Given the description of an element on the screen output the (x, y) to click on. 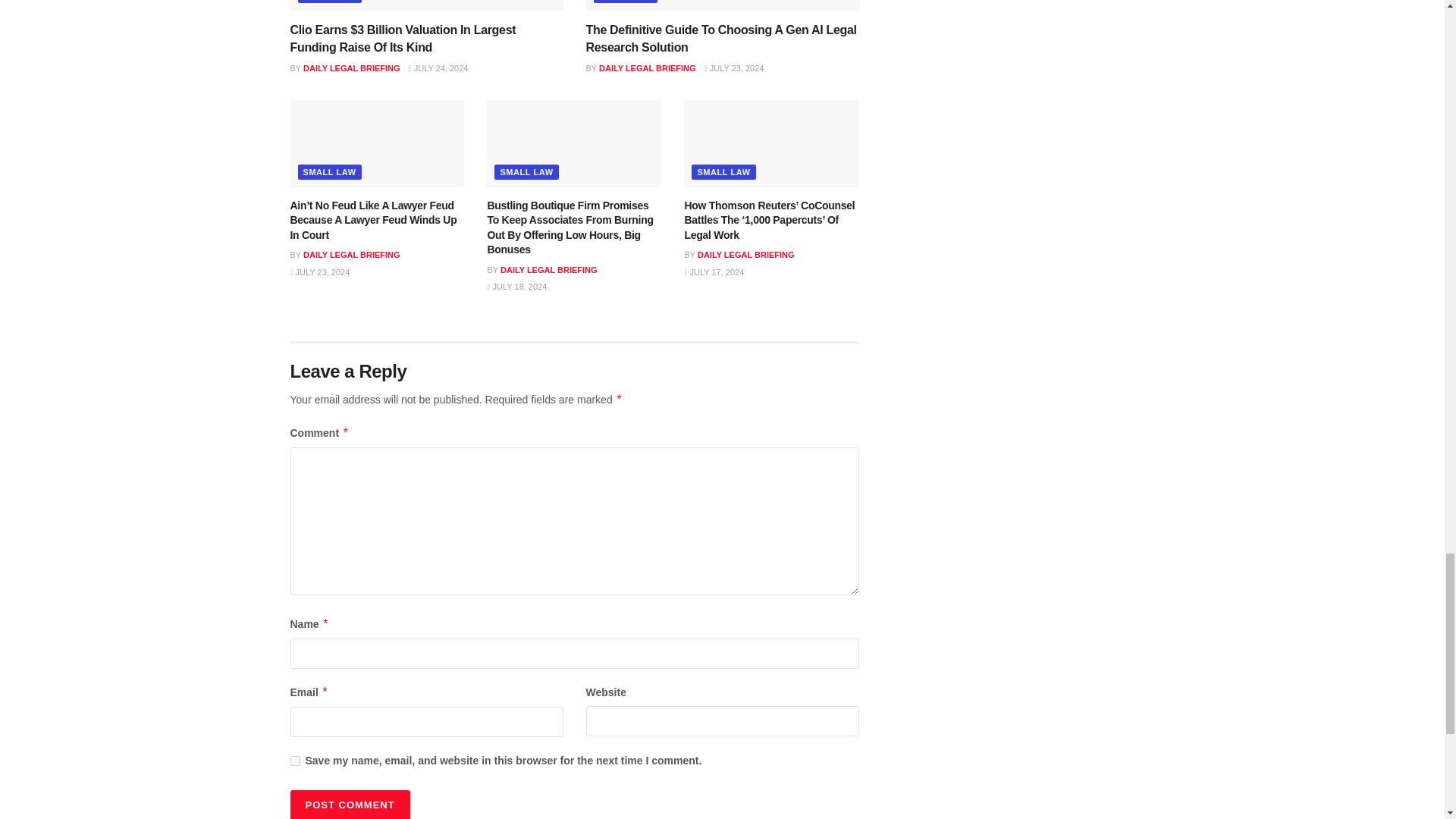
Post Comment (349, 804)
yes (294, 760)
